Given the description of an element on the screen output the (x, y) to click on. 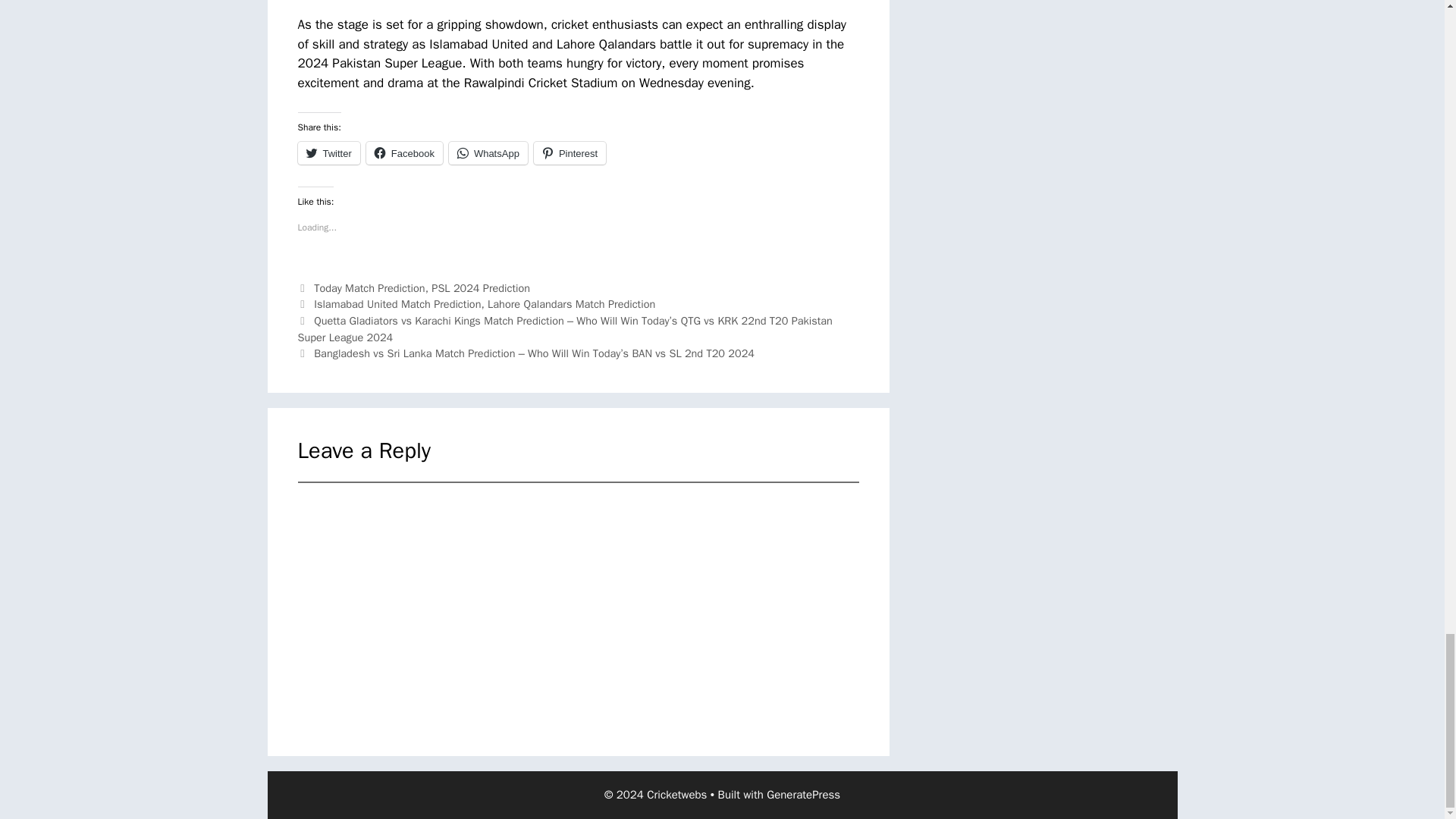
Twitter (328, 152)
Lahore Qalandars Match Prediction (571, 304)
PSL 2024 Prediction (479, 287)
Pinterest (569, 152)
Today Match Prediction (369, 287)
Click to share on Facebook (404, 152)
Click to share on WhatsApp (487, 152)
Facebook (404, 152)
Islamabad United Match Prediction (397, 304)
